Given the description of an element on the screen output the (x, y) to click on. 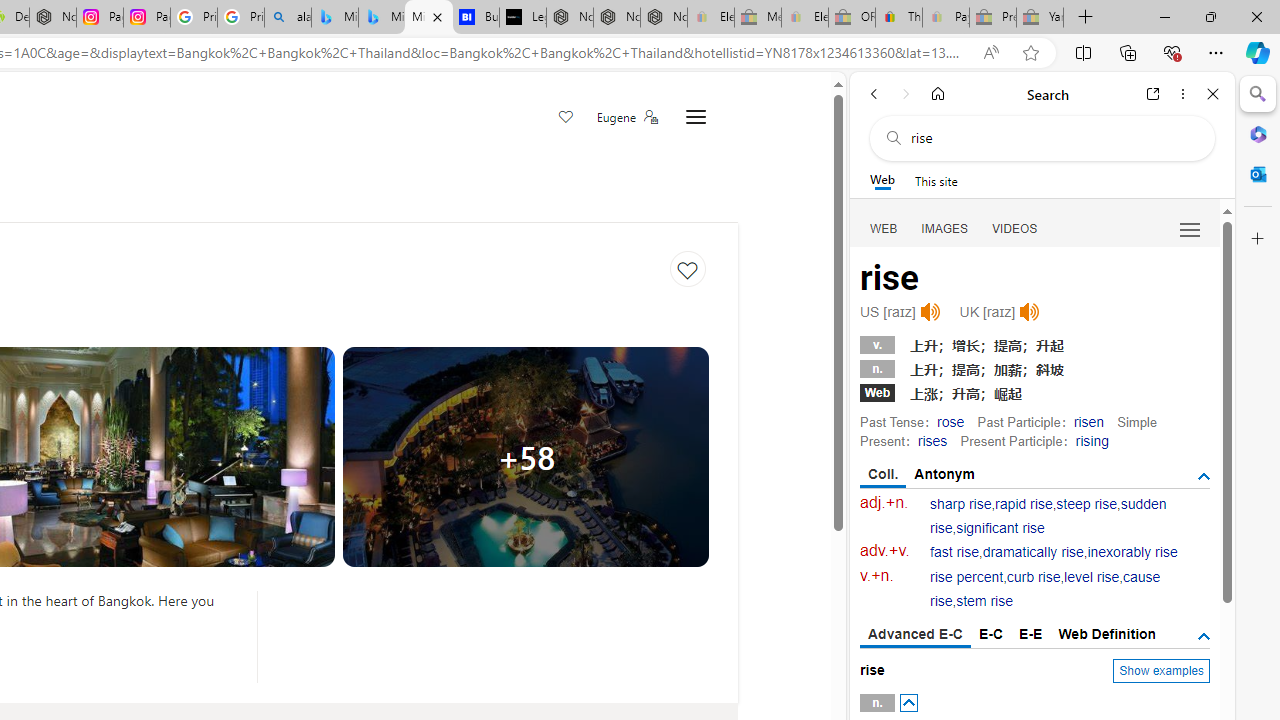
AutomationID: posbtn_0 (908, 703)
Threats and offensive language policy | eBay (898, 17)
Advanced E-C (915, 635)
WEB (884, 228)
Microsoft Bing Travel - Flights from Hong Kong to Bangkok (335, 17)
Save (565, 118)
